Given the description of an element on the screen output the (x, y) to click on. 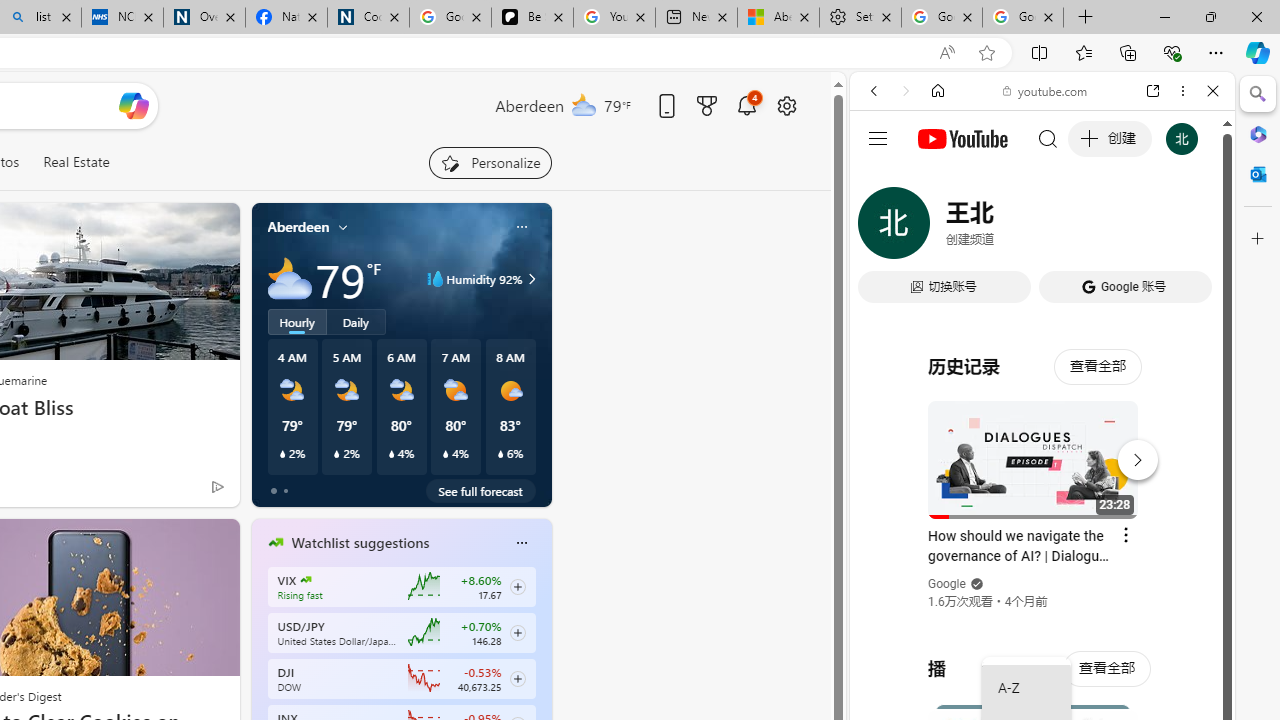
Hourly (296, 321)
Trailer #2 [HD] (1042, 592)
Global web icon (888, 288)
